Given the description of an element on the screen output the (x, y) to click on. 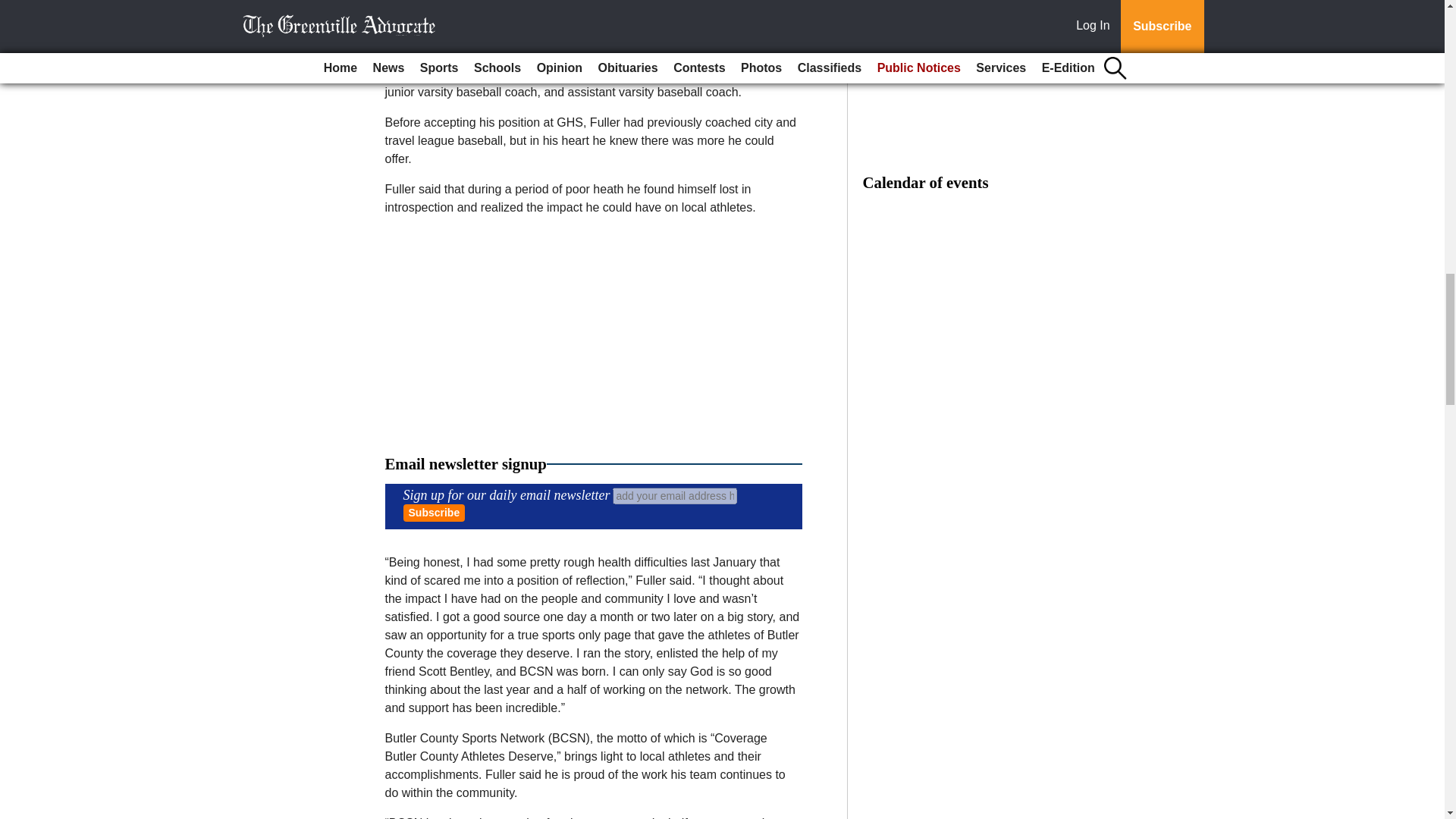
Subscribe (434, 512)
Subscribe (434, 512)
